Given the description of an element on the screen output the (x, y) to click on. 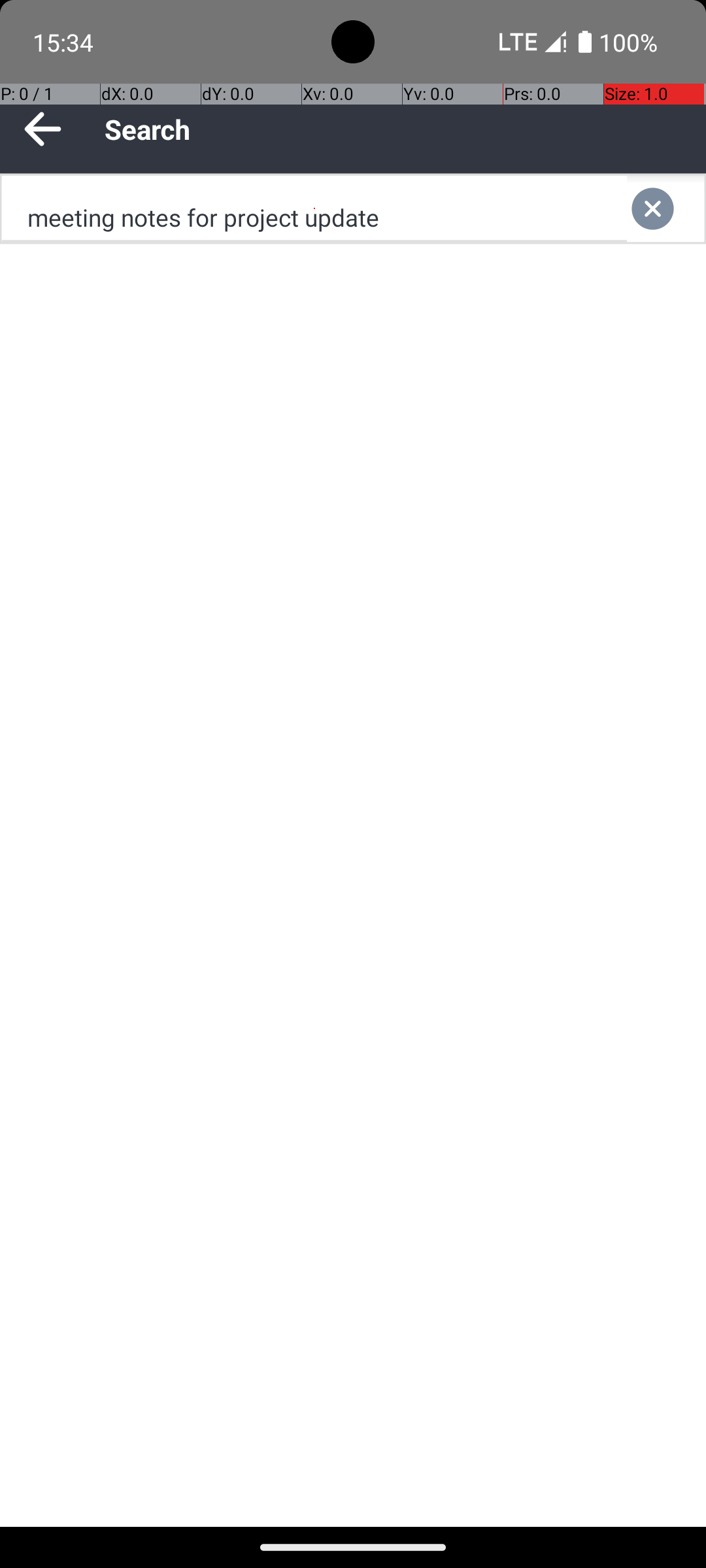
meeting notes for project update Element type: android.widget.EditText (313, 208)
 Element type: android.widget.TextView (665, 208)
